Given the description of an element on the screen output the (x, y) to click on. 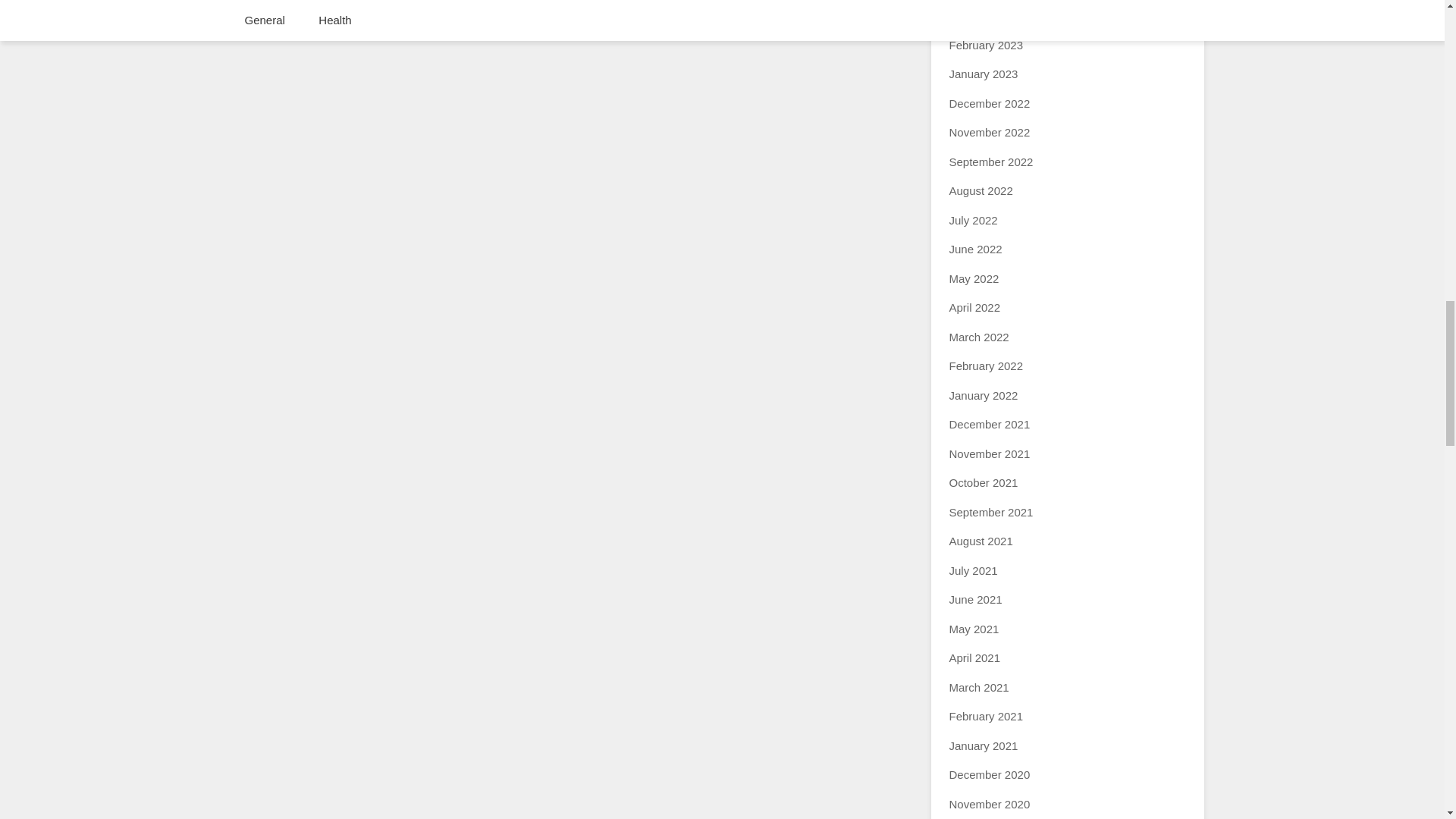
March 2023 (979, 15)
February 2023 (986, 44)
December 2022 (989, 103)
September 2022 (991, 161)
November 2022 (989, 132)
January 2023 (983, 73)
